Given the description of an element on the screen output the (x, y) to click on. 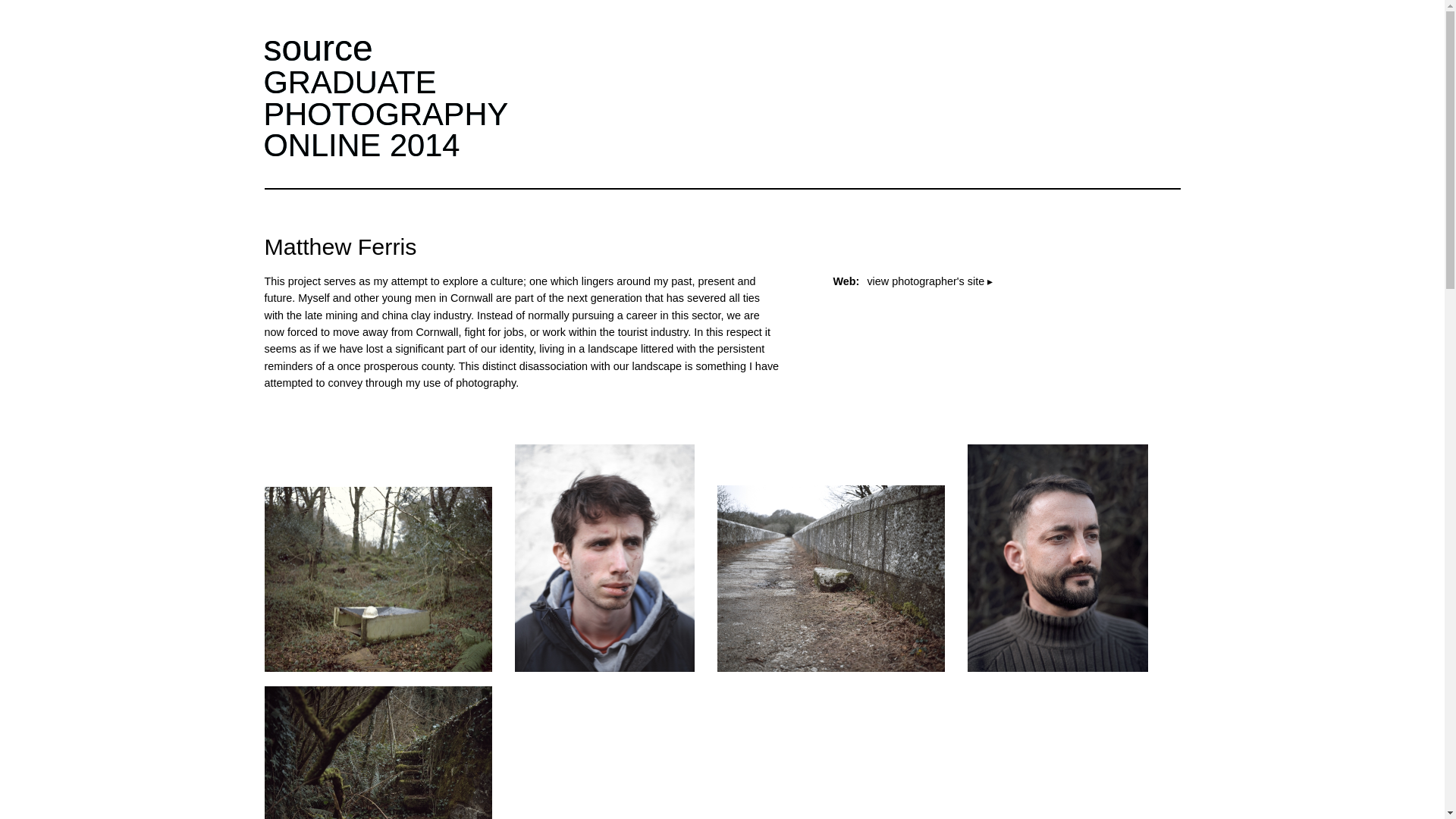
source (385, 113)
